Given the description of an element on the screen output the (x, y) to click on. 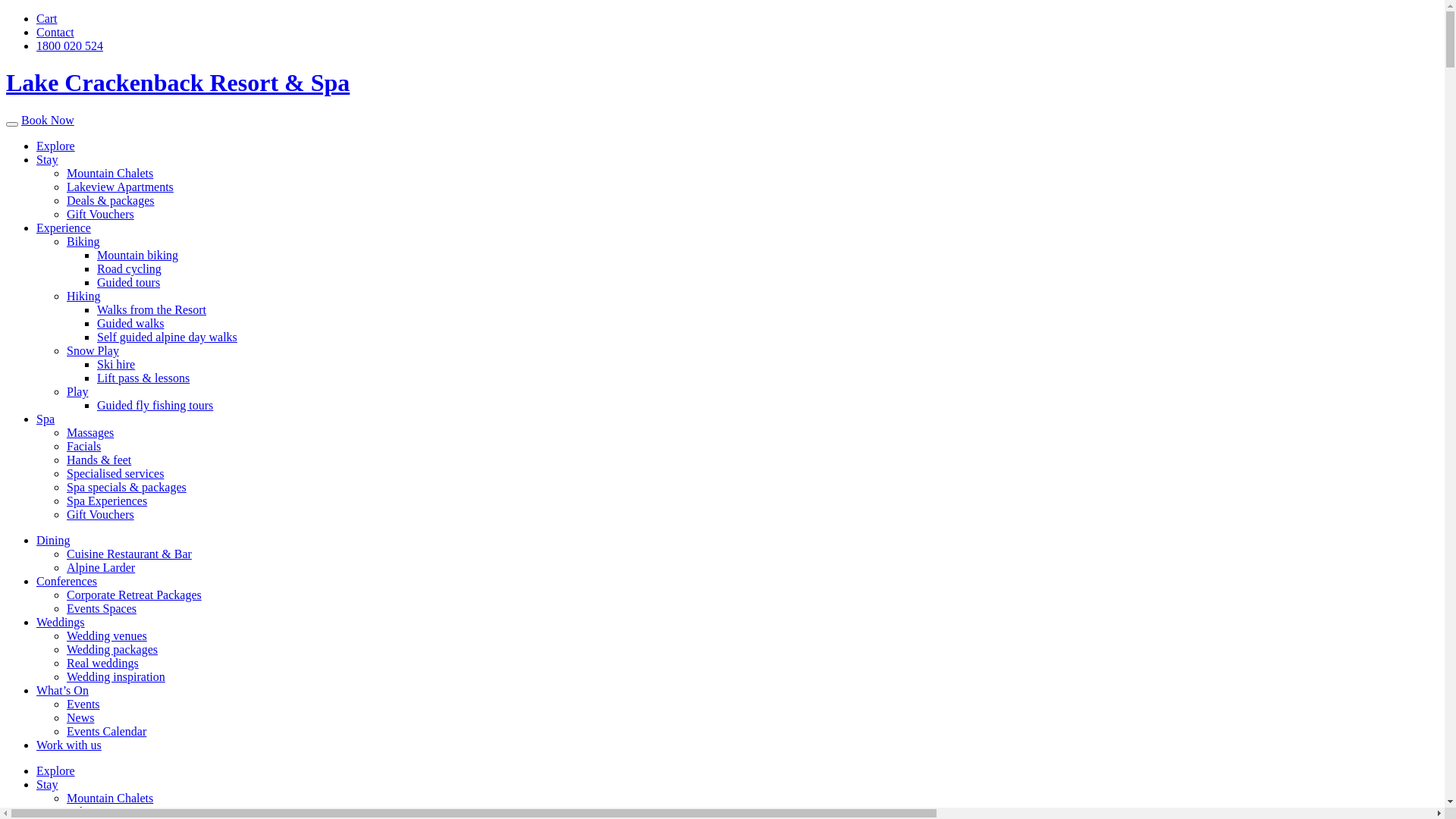
Corporate Retreat Packages Element type: text (133, 594)
Spa Element type: text (45, 418)
Dining Element type: text (52, 539)
Explore Element type: text (55, 145)
Weddings Element type: text (60, 621)
Real weddings Element type: text (102, 662)
Contact Element type: text (55, 31)
Mountain Chalets Element type: text (109, 797)
Biking Element type: text (83, 241)
Events Element type: text (83, 703)
Ski hire Element type: text (115, 363)
Conferences Element type: text (66, 580)
Gift Vouchers Element type: text (100, 213)
Stay Element type: text (46, 784)
Book Now Element type: text (47, 119)
Guided fly fishing tours Element type: text (155, 404)
Facials Element type: text (83, 445)
Gift Vouchers Element type: text (100, 514)
Wedding packages Element type: text (111, 649)
Alpine Larder Element type: text (100, 567)
Lakeview Apartments Element type: text (119, 186)
Snow Play Element type: text (92, 350)
Spa Experiences Element type: text (106, 500)
Lakeview Apartments Element type: text (119, 811)
Walks from the Resort Element type: text (151, 309)
News Element type: text (80, 717)
Mountain Chalets Element type: text (109, 172)
Experience Element type: text (63, 227)
Guided walks Element type: text (130, 322)
Cuisine Restaurant & Bar Element type: text (128, 553)
Explore Element type: text (55, 770)
1800 020 524 Element type: text (69, 45)
Road cycling Element type: text (129, 268)
Spa specials & packages Element type: text (126, 486)
Wedding inspiration Element type: text (115, 676)
Specialised services Element type: text (114, 473)
Lift pass & lessons Element type: text (143, 377)
Wedding venues Element type: text (106, 635)
Lake Crackenback Resort & Spa Element type: text (177, 82)
Play Element type: text (76, 391)
Stay Element type: text (46, 159)
Events Spaces Element type: text (101, 608)
Self guided alpine day walks Element type: text (167, 336)
Deals & packages Element type: text (110, 200)
Cart Element type: text (46, 18)
Hiking Element type: text (83, 295)
Work with us Element type: text (68, 744)
Mountain biking Element type: text (137, 254)
Guided tours Element type: text (128, 282)
Massages Element type: text (89, 432)
Events Calendar Element type: text (106, 730)
Hands & feet Element type: text (98, 459)
